Given the description of an element on the screen output the (x, y) to click on. 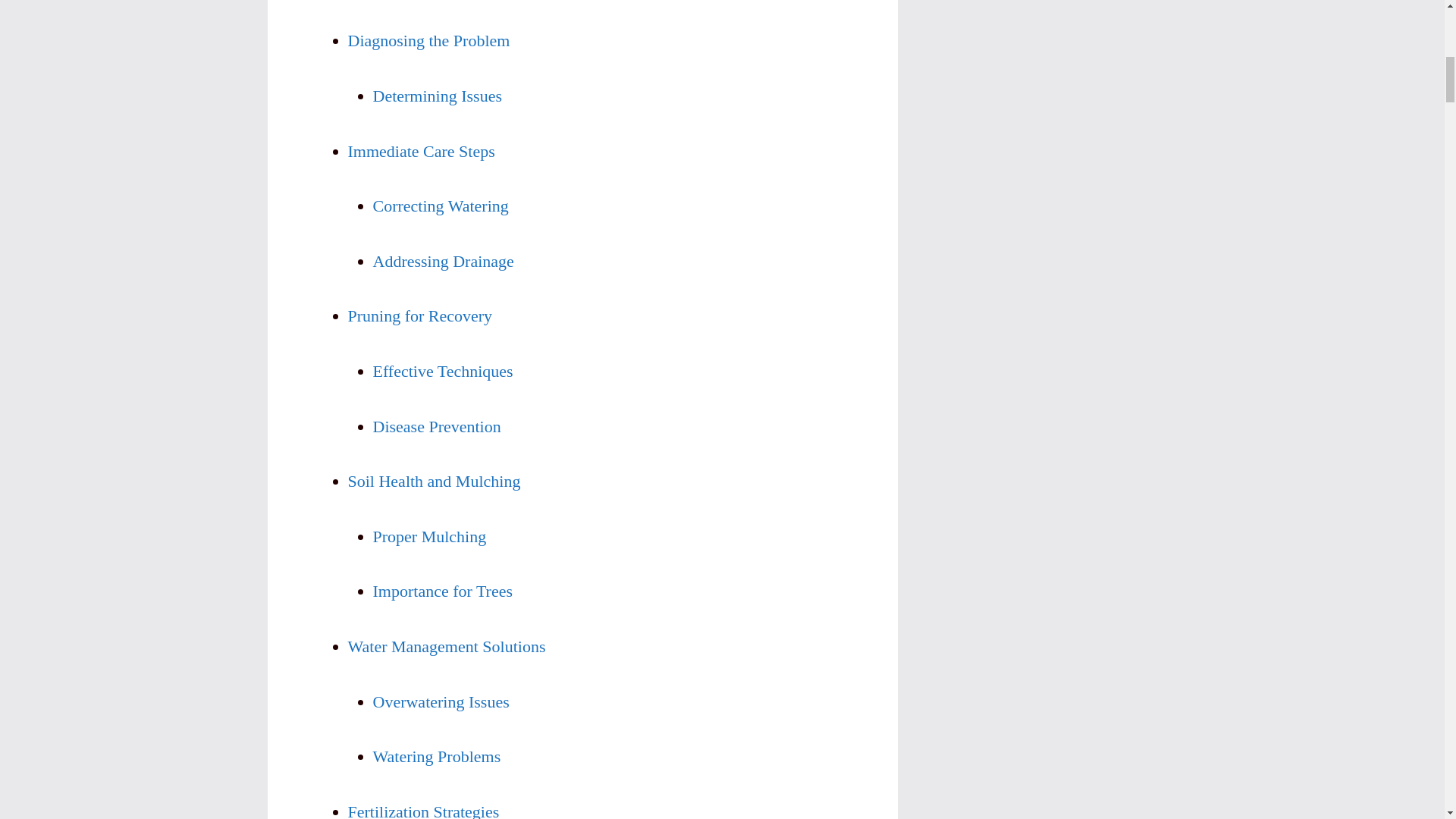
Soil Health and Mulching (433, 480)
Watering Problems (436, 755)
Immediate Care Steps (421, 150)
Disease Prevention (436, 425)
Diagnosing the Problem (428, 40)
Importance for Trees (442, 590)
Addressing Drainage (442, 261)
Proper Mulching (429, 536)
Scroll back to top (1406, 720)
Determining Issues (437, 95)
Effective Techniques (442, 370)
Correcting Watering (440, 205)
Overwatering Issues (440, 701)
Pruning for Recovery (419, 315)
Fertilization Strategies (423, 810)
